Given the description of an element on the screen output the (x, y) to click on. 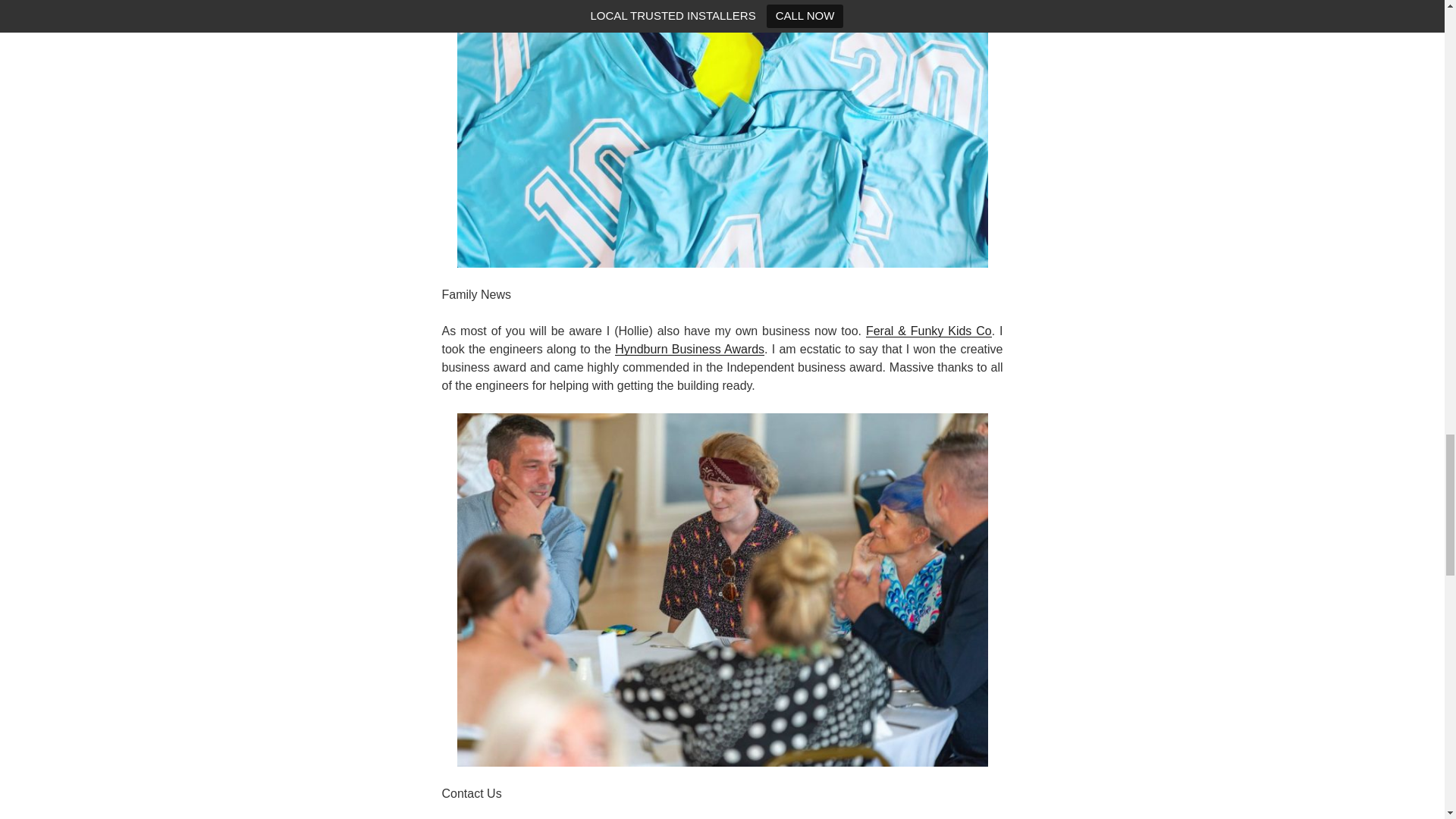
Hyndburn Business Awards (689, 349)
